Given the description of an element on the screen output the (x, y) to click on. 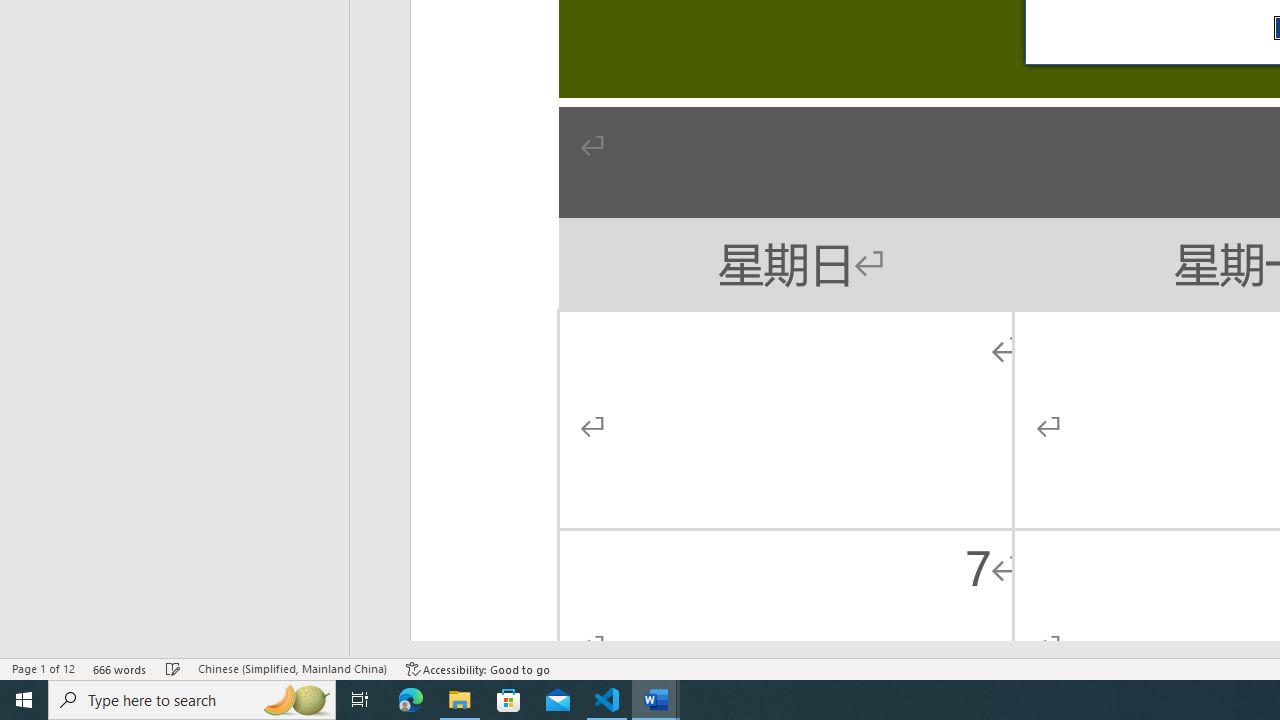
Start (24, 699)
Spelling and Grammar Check Checking (173, 668)
Microsoft Store (509, 699)
Word Count 666 words (119, 668)
Type here to search (191, 699)
Search highlights icon opens search home window (295, 699)
Page Number Page 1 of 12 (43, 668)
Word - 2 running windows (656, 699)
Task View (359, 699)
File Explorer - 1 running window (460, 699)
Language Chinese (Simplified, Mainland China) (292, 668)
Accessibility Checker Accessibility: Good to go (478, 668)
Visual Studio Code - 1 running window (607, 699)
